Given the description of an element on the screen output the (x, y) to click on. 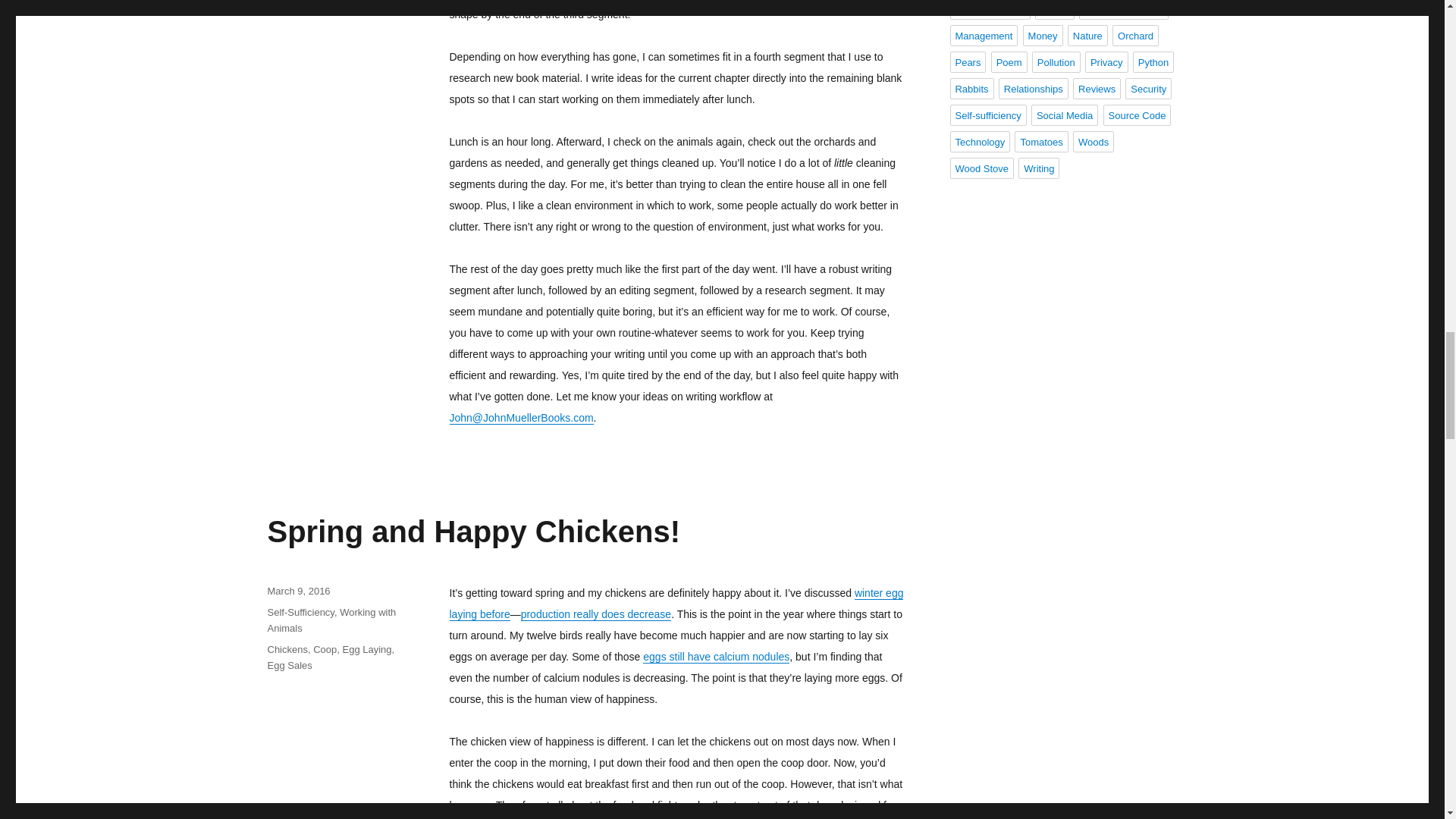
Egg Sales (288, 665)
Chickens (286, 649)
Self-Sufficiency (299, 612)
eggs still have calcium nodules (716, 656)
Contact me about my book. (520, 417)
Spring and Happy Chickens! (472, 531)
March 9, 2016 (298, 591)
production really does decrease (596, 613)
Egg Laying (366, 649)
winter egg laying before (675, 603)
